Given the description of an element on the screen output the (x, y) to click on. 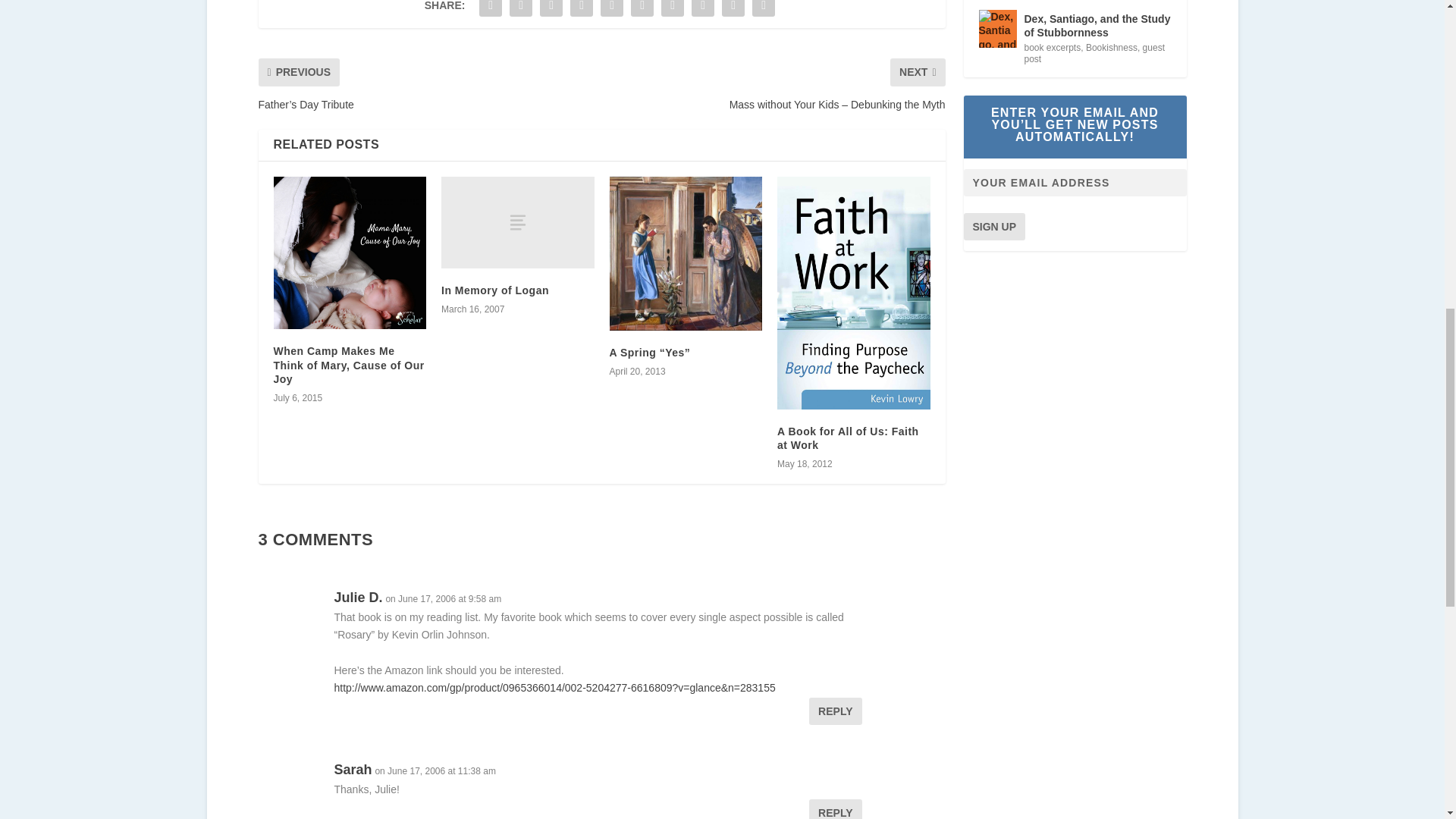
Share "The Rosary, by Garry Wills" via Tumblr (581, 10)
Share "The Rosary, by Garry Wills" via LinkedIn (642, 10)
Share "The Rosary, by Garry Wills" via Pinterest (611, 10)
Share "The Rosary, by Garry Wills" via Stumbleupon (702, 10)
Share "The Rosary, by Garry Wills" via Email (732, 10)
Share "The Rosary, by Garry Wills" via Facebook (490, 10)
Sign up (993, 226)
Share "The Rosary, by Garry Wills" via Twitter (520, 10)
Share "The Rosary, by Garry Wills" via Buffer (672, 10)
